Given the description of an element on the screen output the (x, y) to click on. 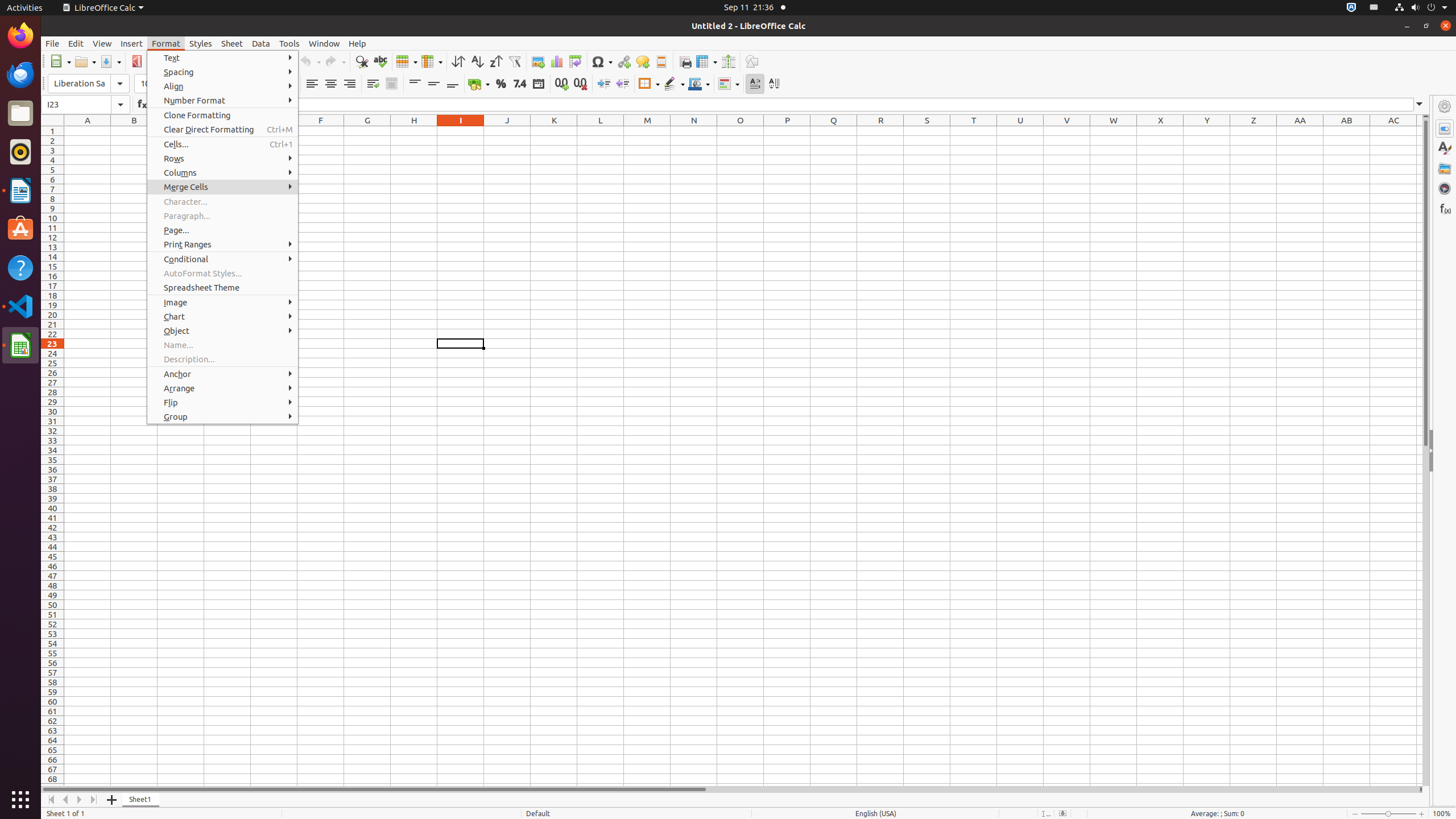
Currency Element type: push-button (478, 83)
New Element type: push-button (59, 61)
Font Name Element type: combo-box (88, 83)
